Given the description of an element on the screen output the (x, y) to click on. 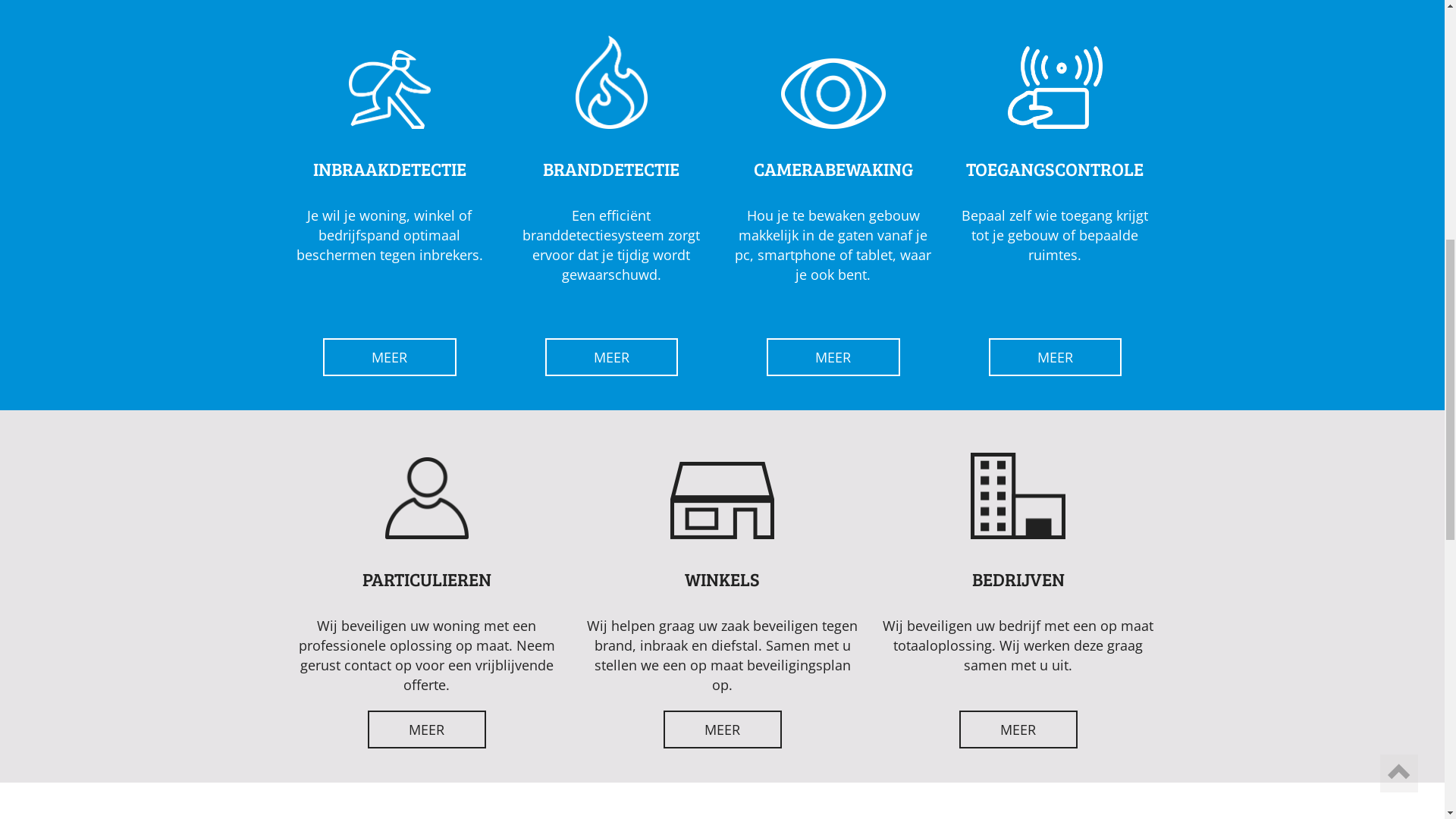
info@belelectronics.be Element type: text (354, 15)
2 Element type: text (710, 612)
4 Element type: text (756, 612)
HOME Element type: text (730, 75)
1 Element type: text (688, 612)
DOELGROEPEN Element type: text (872, 75)
CONTACT Element type: text (1025, 75)
SECURITY EXPERT Element type: text (1111, 75)
DIENSTEN Element type: text (790, 75)
OVER ONS Element type: text (955, 75)
3 Element type: text (733, 612)
0473 39 24 95 Element type: text (477, 15)
Bosstraat 2b, 1910 Kampenhout Element type: text (622, 15)
